Given the description of an element on the screen output the (x, y) to click on. 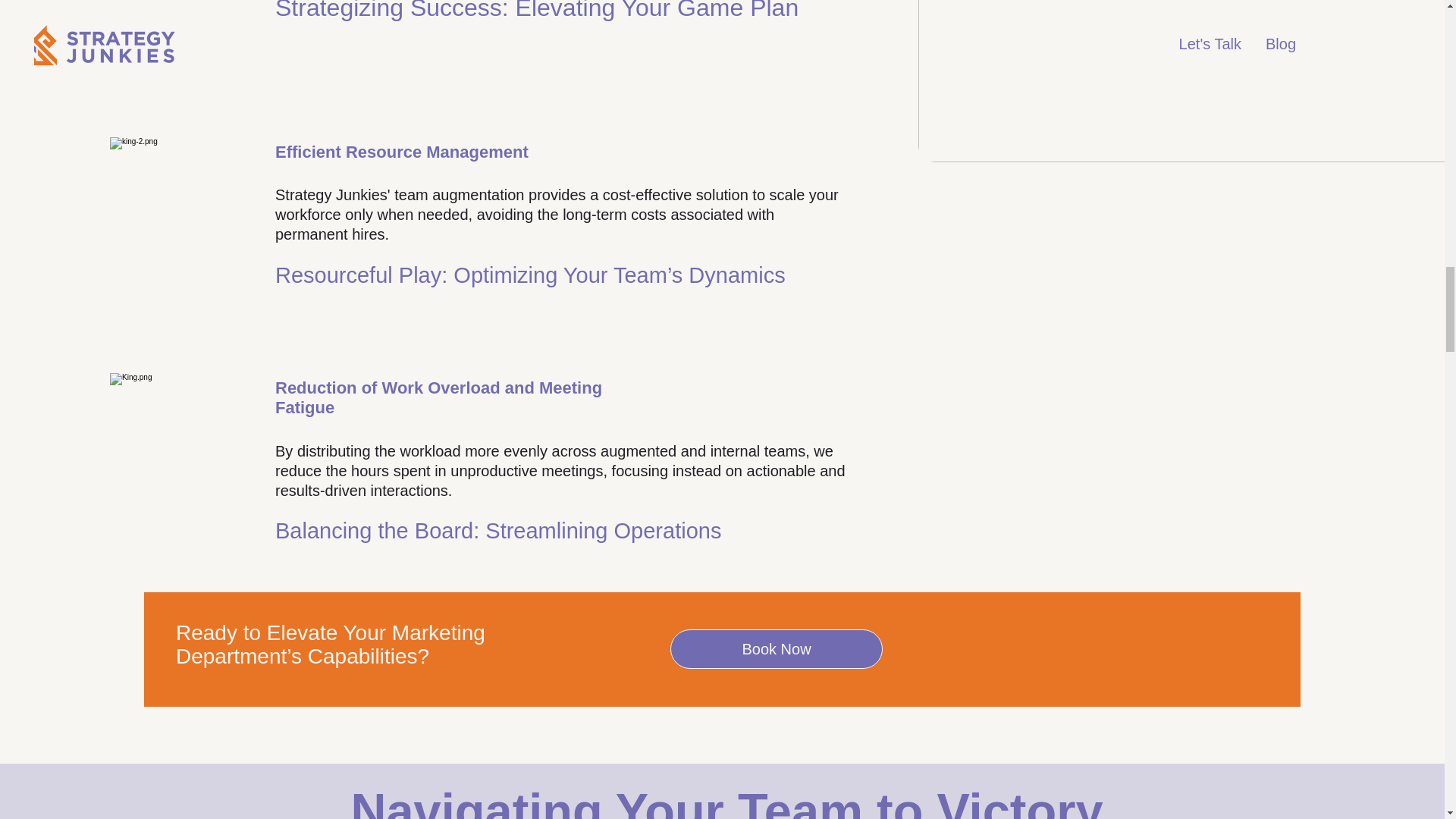
Book Now (775, 649)
